Given the description of an element on the screen output the (x, y) to click on. 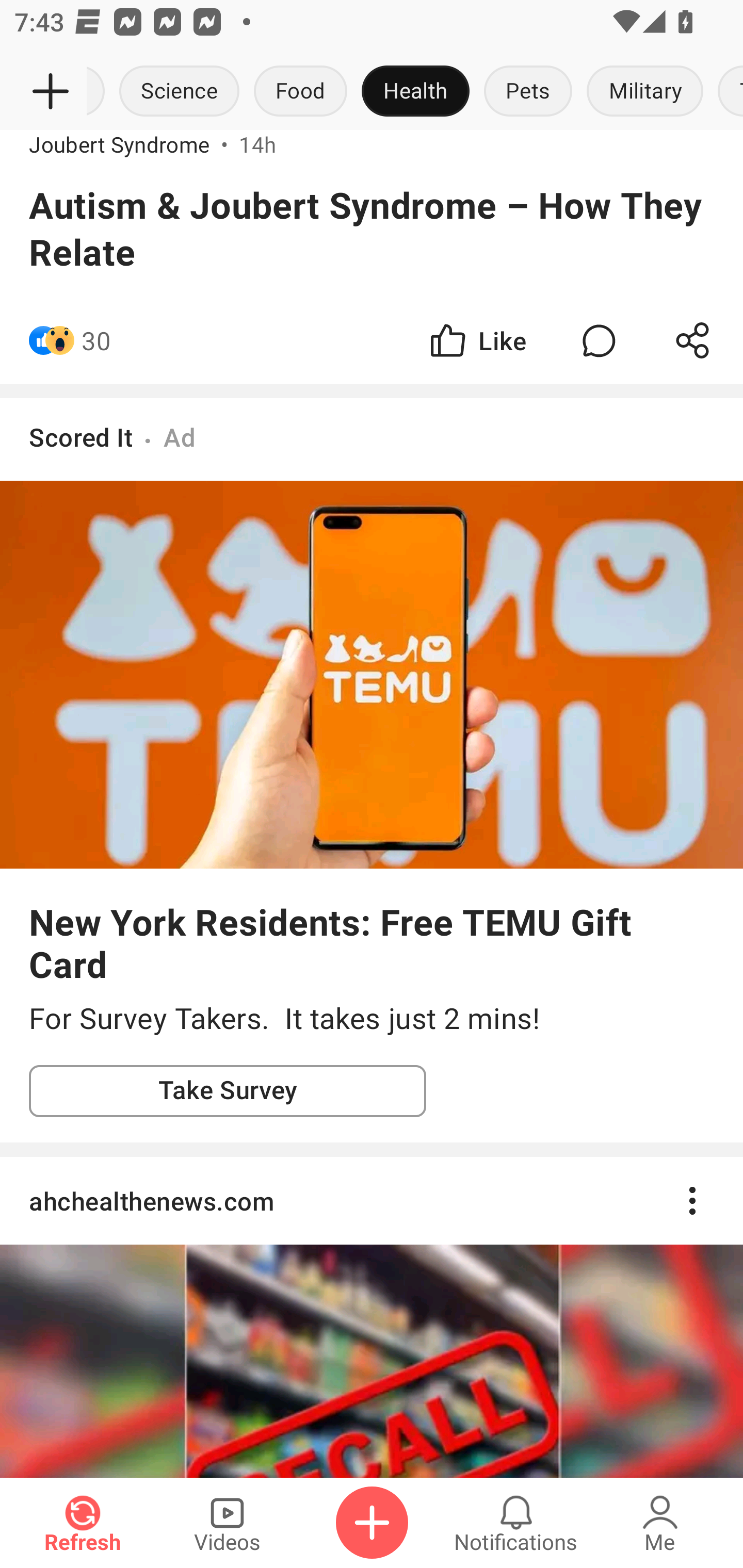
Science (179, 91)
Food (300, 91)
Health (415, 91)
Pets (528, 91)
Military (644, 91)
30 (95, 340)
Like (476, 340)
Scored It (80, 436)
New York Residents: Free TEMU Gift Card (371, 941)
For Survey Takers.  It takes just 2 mins! (371, 1018)
Take Survey (227, 1090)
ahchealthenews.com (371, 1317)
ahchealthenews.com (371, 1200)
Videos (227, 1522)
Notifications (516, 1522)
Me (659, 1522)
